Given the description of an element on the screen output the (x, y) to click on. 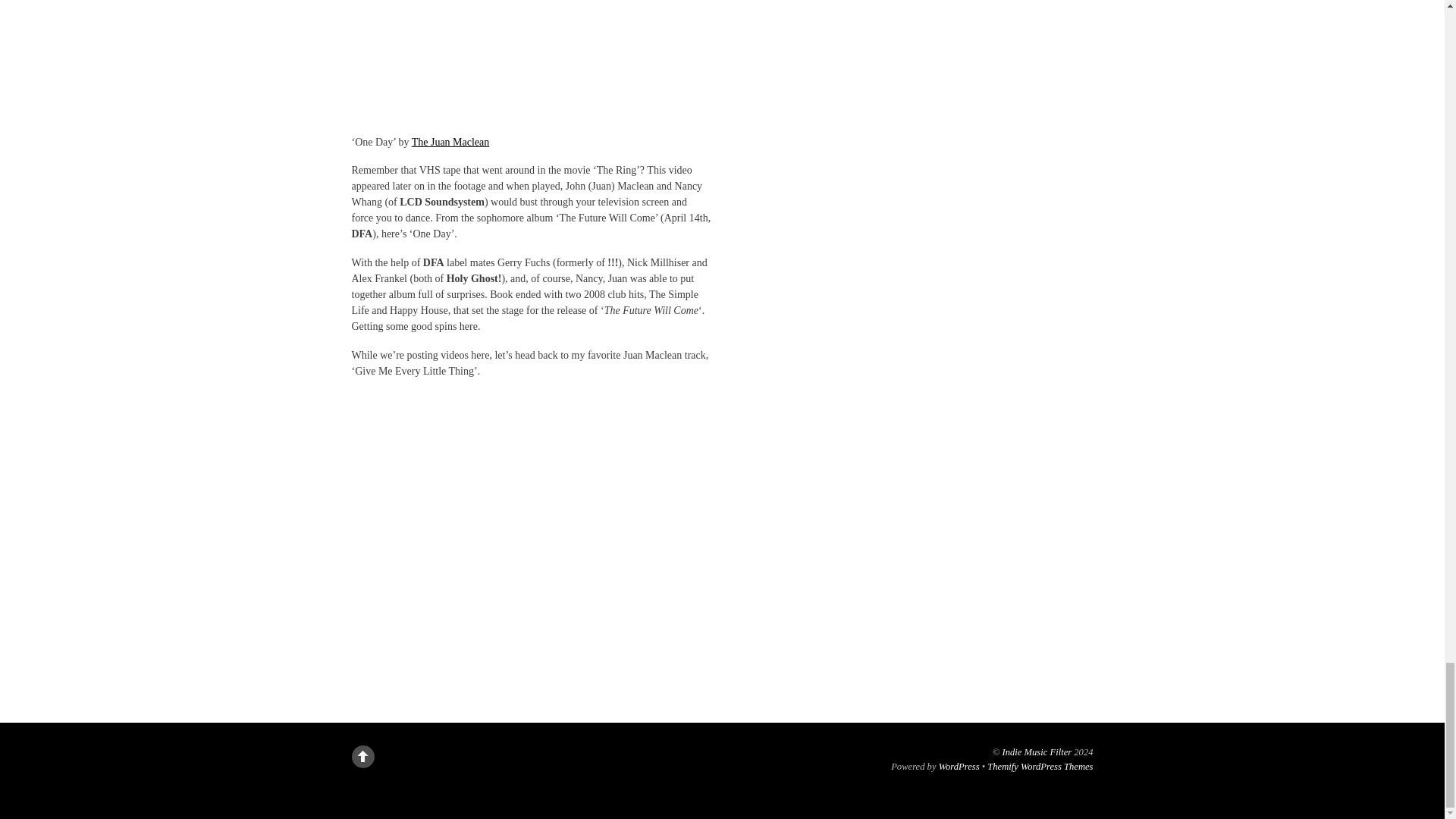
The Juan Maclean (450, 142)
